Given the description of an element on the screen output the (x, y) to click on. 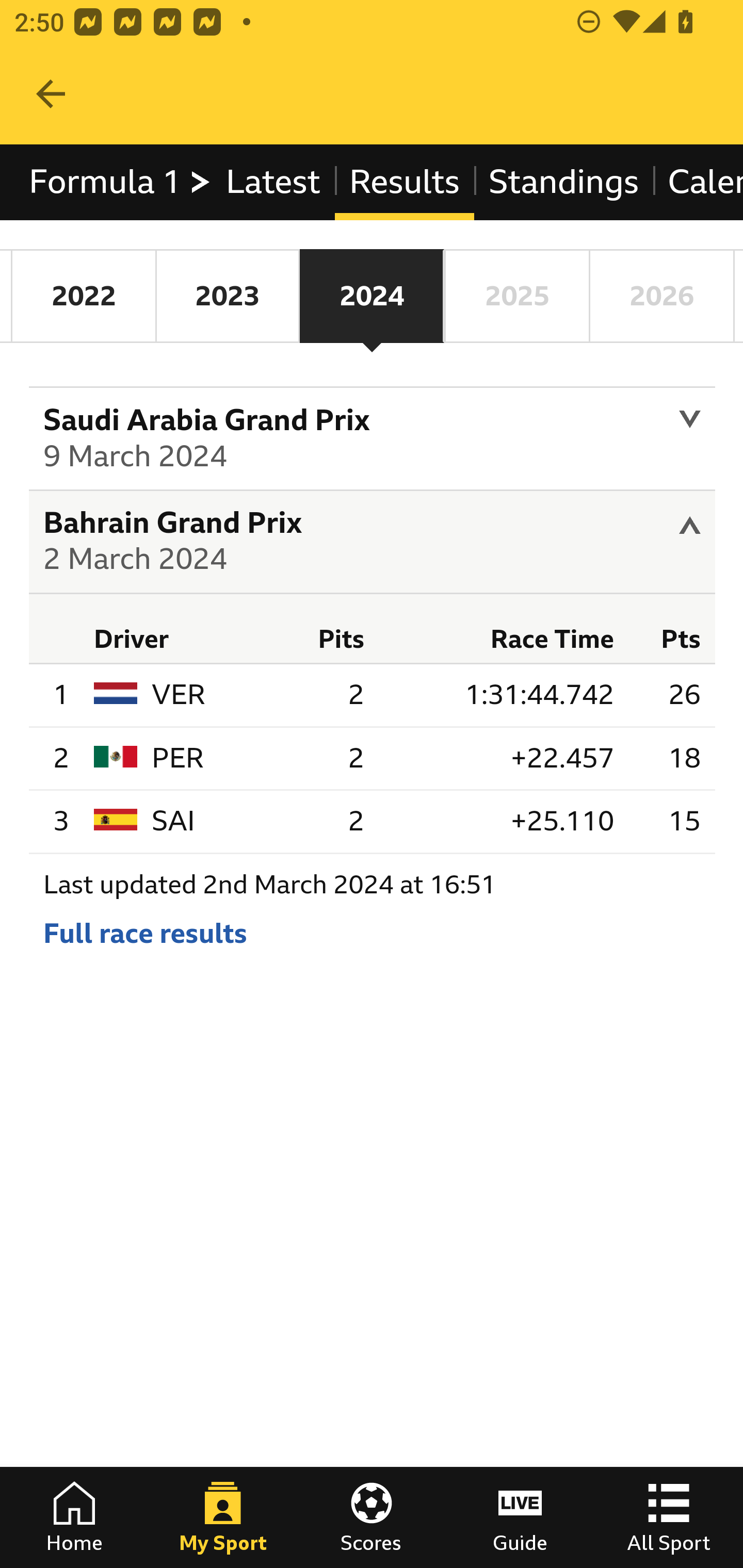
Navigate up (50, 93)
Formula 1  (120, 181)
Latest (272, 181)
Results (403, 181)
Standings (564, 181)
2022 (83, 296)
2023 (227, 296)
2024, Selected (371, 296)
Bahrain Grand Prix, Bahrain IC 2 March 2024 (372, 542)
Full race results (145, 934)
Home (74, 1517)
Scores (371, 1517)
Guide (519, 1517)
All Sport (668, 1517)
